Given the description of an element on the screen output the (x, y) to click on. 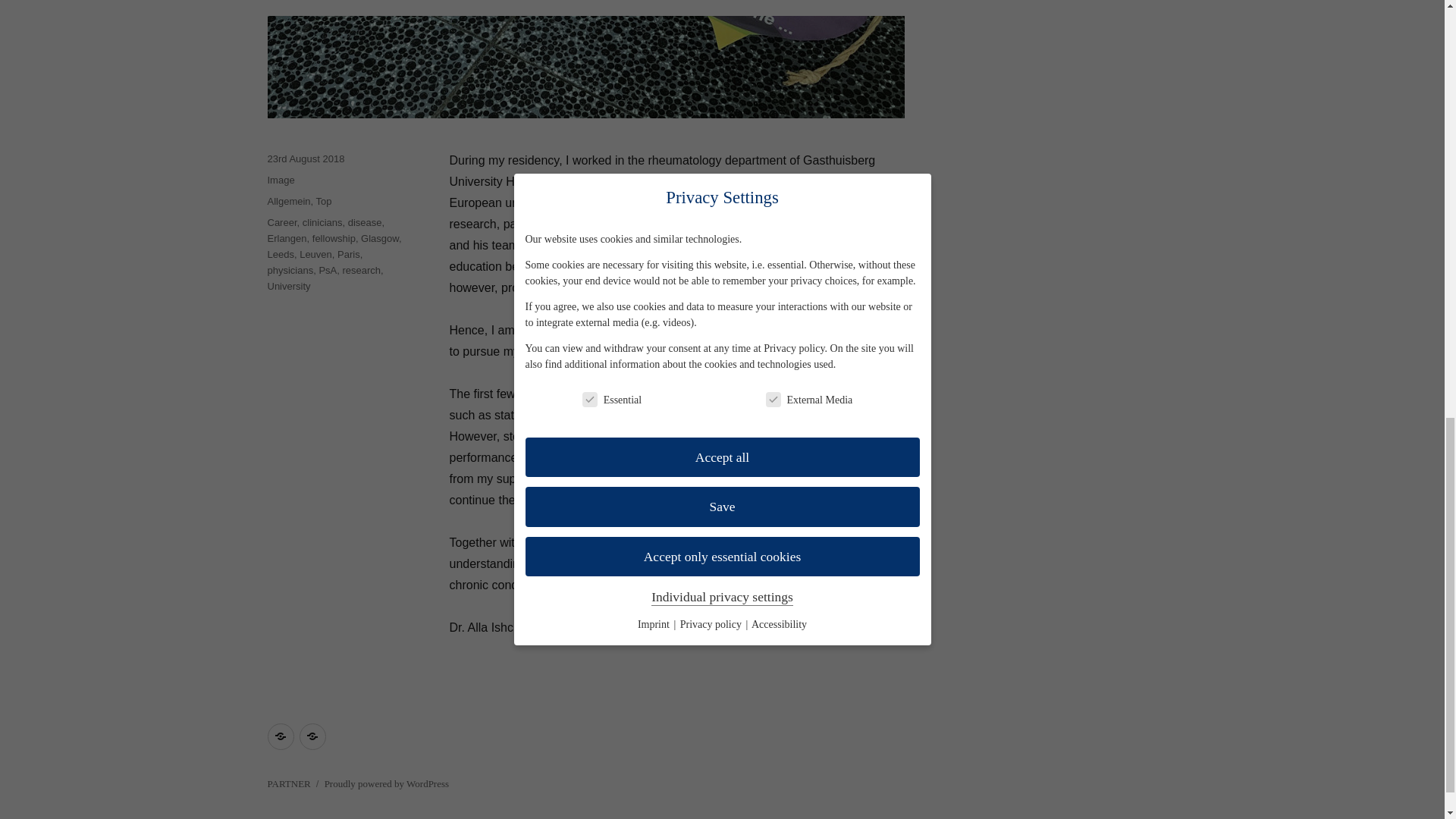
Image (280, 179)
Leeds (280, 254)
research (361, 270)
Allgemein (288, 201)
disease (364, 222)
physicians (289, 270)
fellowship (334, 238)
clinicians (322, 222)
University (288, 285)
Top (323, 201)
Paris (348, 254)
Glasgow (379, 238)
Leuven (315, 254)
Erlangen (285, 238)
23rd August 2018 (304, 158)
